Given the description of an element on the screen output the (x, y) to click on. 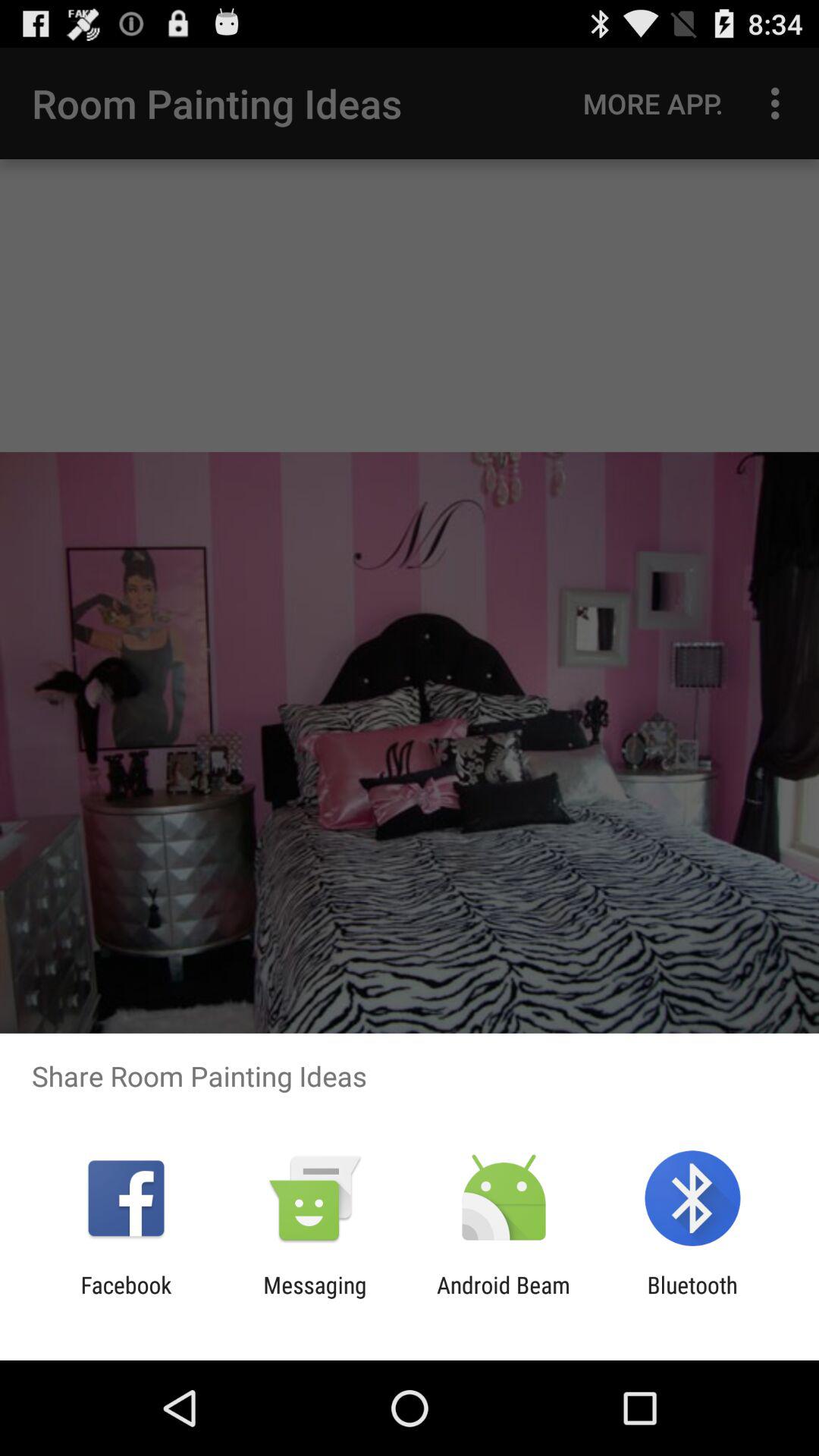
choose facebook (125, 1298)
